Given the description of an element on the screen output the (x, y) to click on. 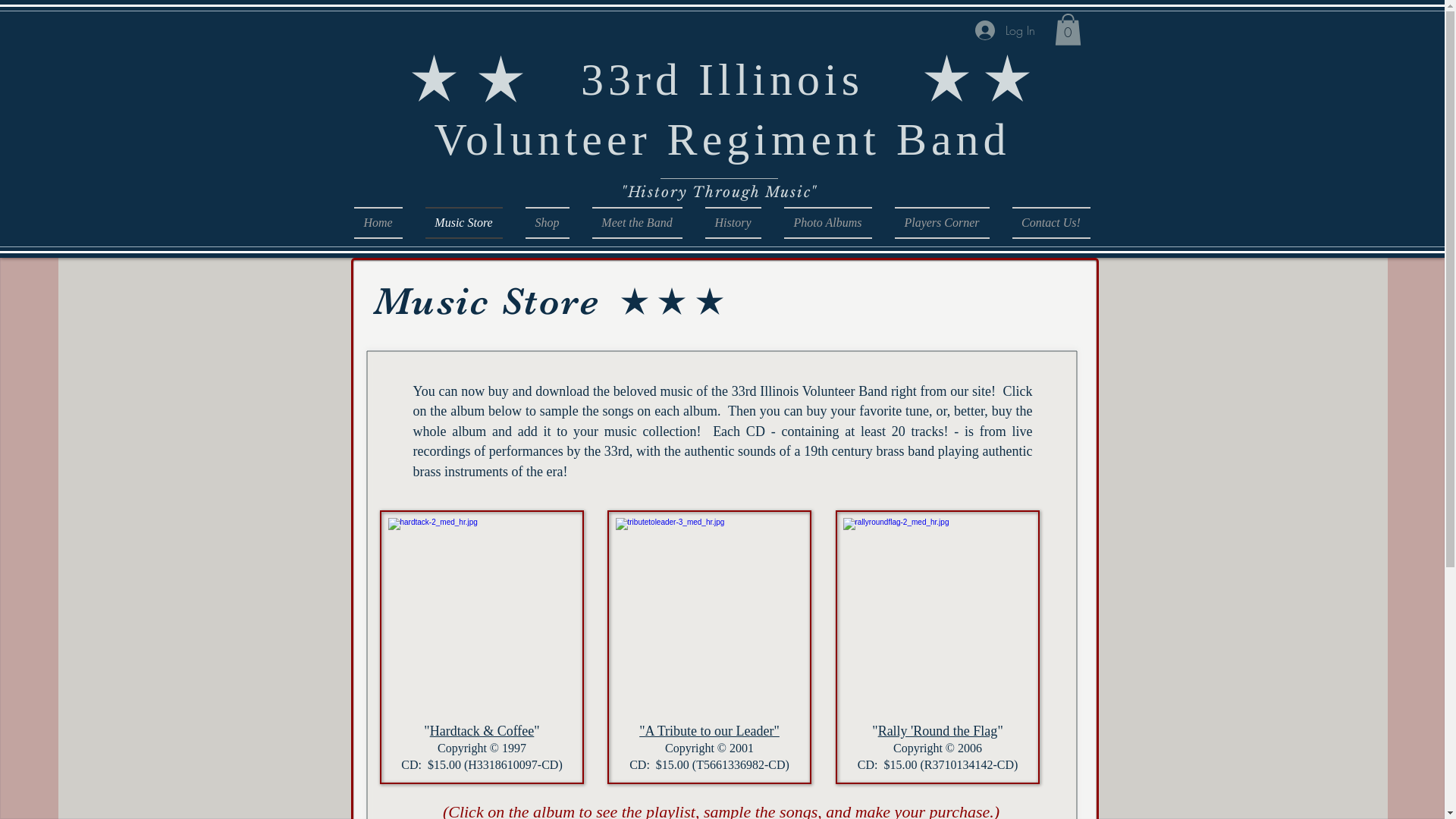
Log In Element type: text (1004, 29)
Hardtack & Coffee Element type: text (481, 730)
Music Store Element type: text (464, 222)
Meet the Band Element type: text (636, 222)
Players Corner Element type: text (941, 222)
Photo Albums Element type: text (826, 222)
Shop Element type: text (547, 222)
History Element type: text (732, 222)
Home Element type: text (383, 222)
Contact Us! Element type: text (1045, 222)
0 Element type: text (1067, 29)
"A Tribute to our Leader" Element type: text (709, 727)
Rally 'Round the Flag Element type: text (937, 730)
